Given the description of an element on the screen output the (x, y) to click on. 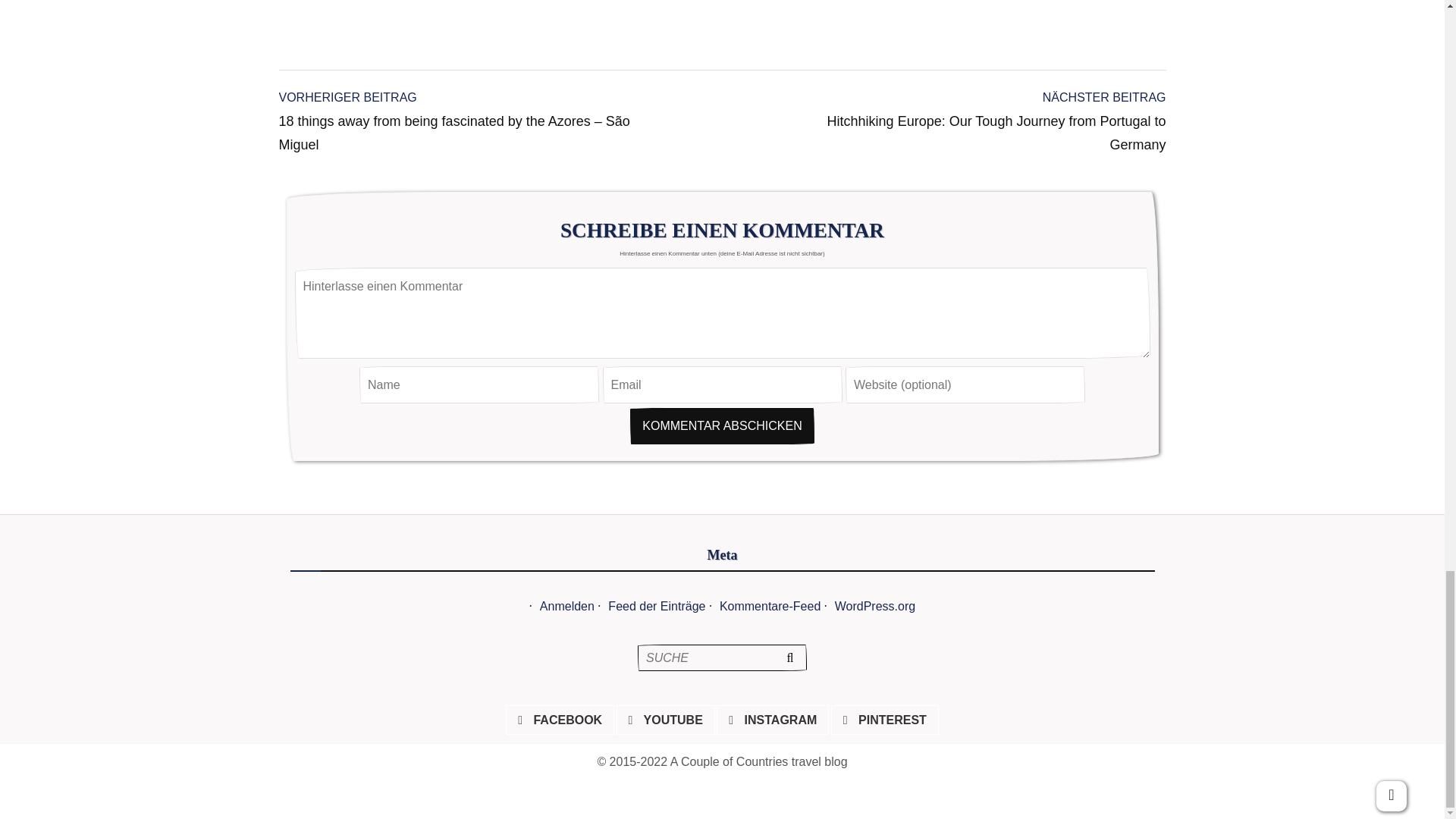
Facebook (559, 719)
INSTAGRAM (772, 719)
Kommentar abschicken (720, 426)
FACEBOOK (559, 719)
Kommentar abschicken (720, 426)
YOUTUBE (665, 719)
PINTEREST (884, 719)
WordPress.org (874, 605)
Suche (789, 657)
Anmelden (567, 605)
